Given the description of an element on the screen output the (x, y) to click on. 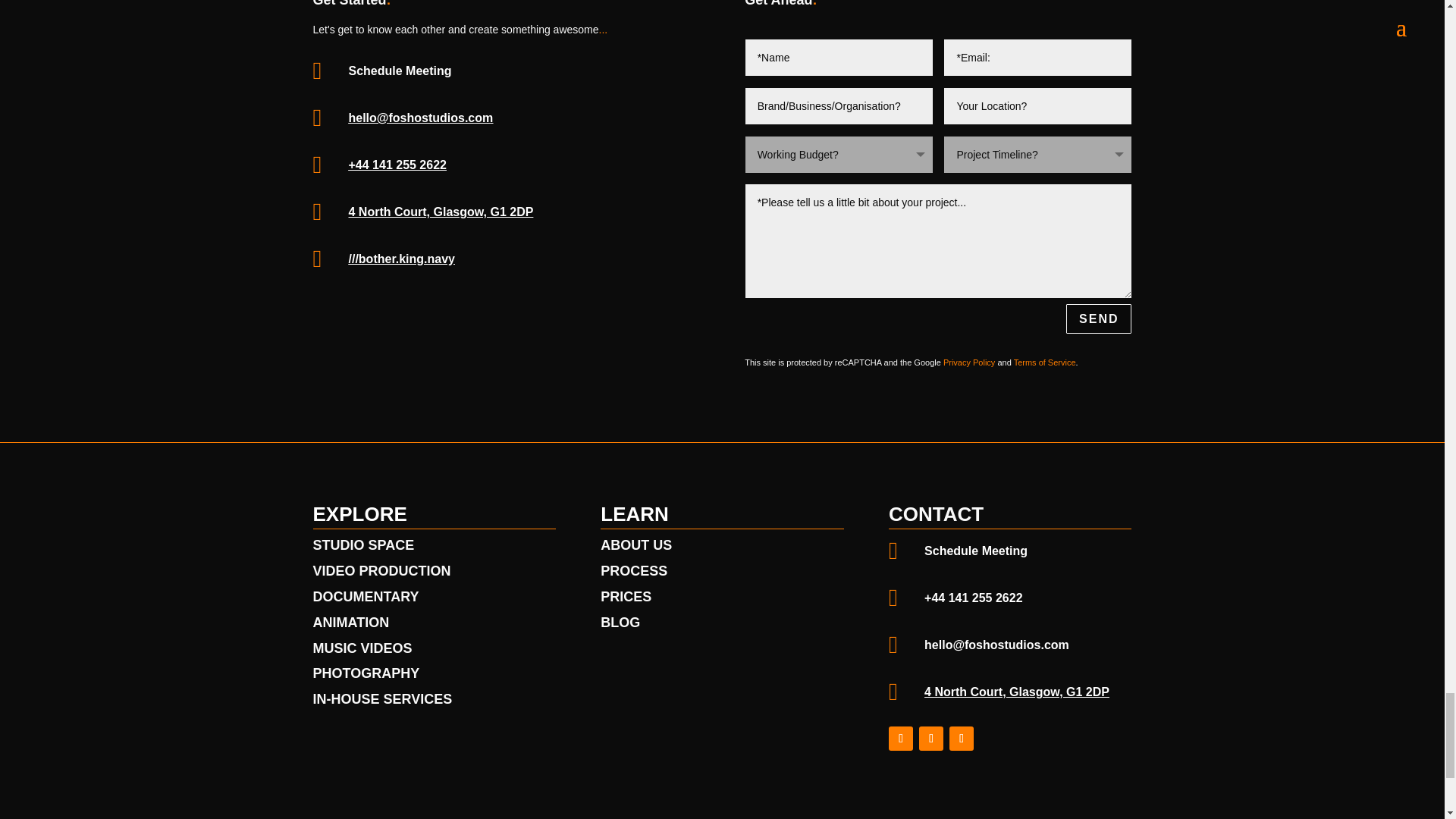
Follow on LinkedIn (961, 738)
Follow on Youtube (930, 738)
Follow on Instagram (900, 738)
